Given the description of an element on the screen output the (x, y) to click on. 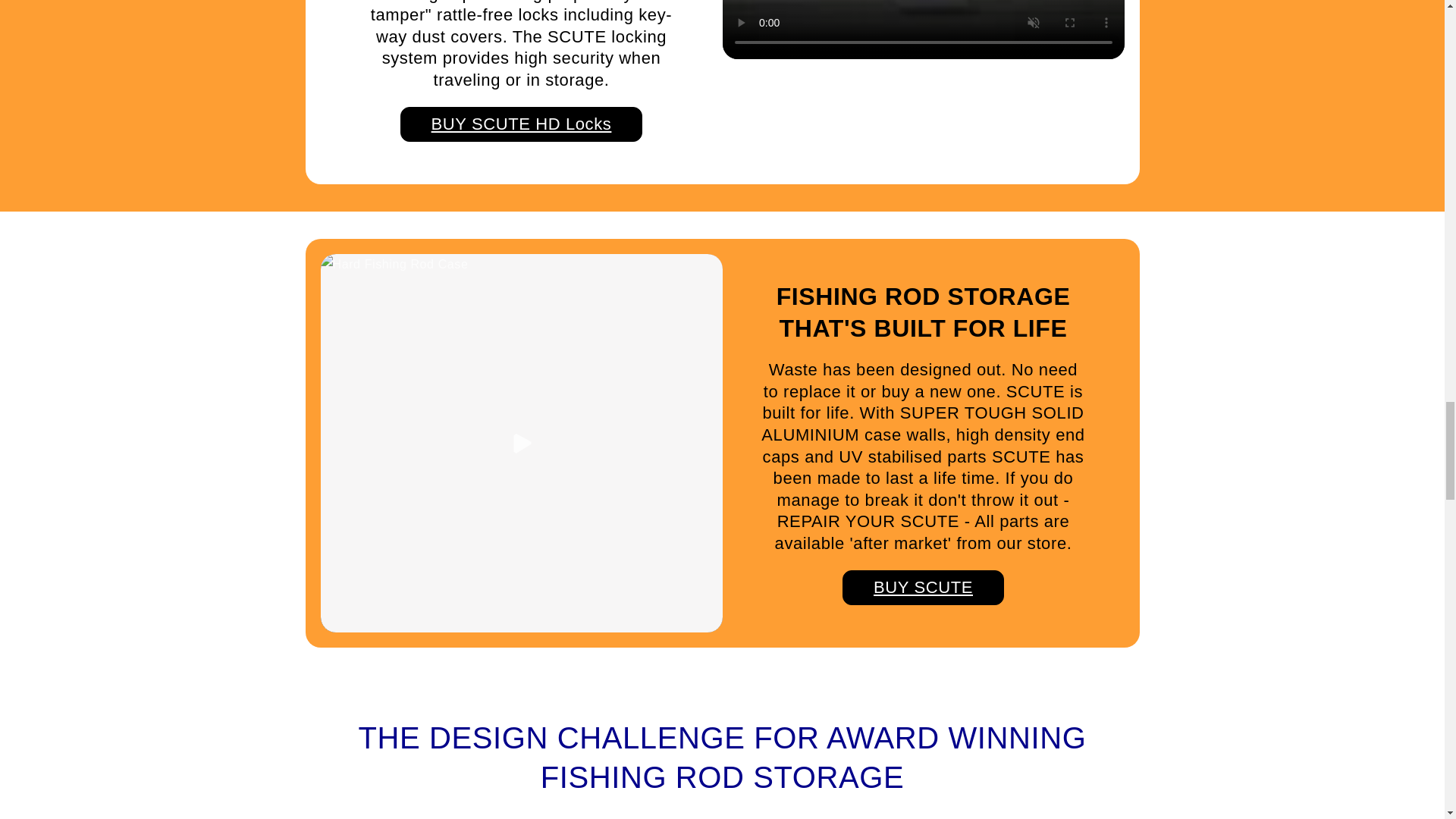
BUY SCUTE (923, 588)
BUY SCUTE HD Locks (521, 123)
